Given the description of an element on the screen output the (x, y) to click on. 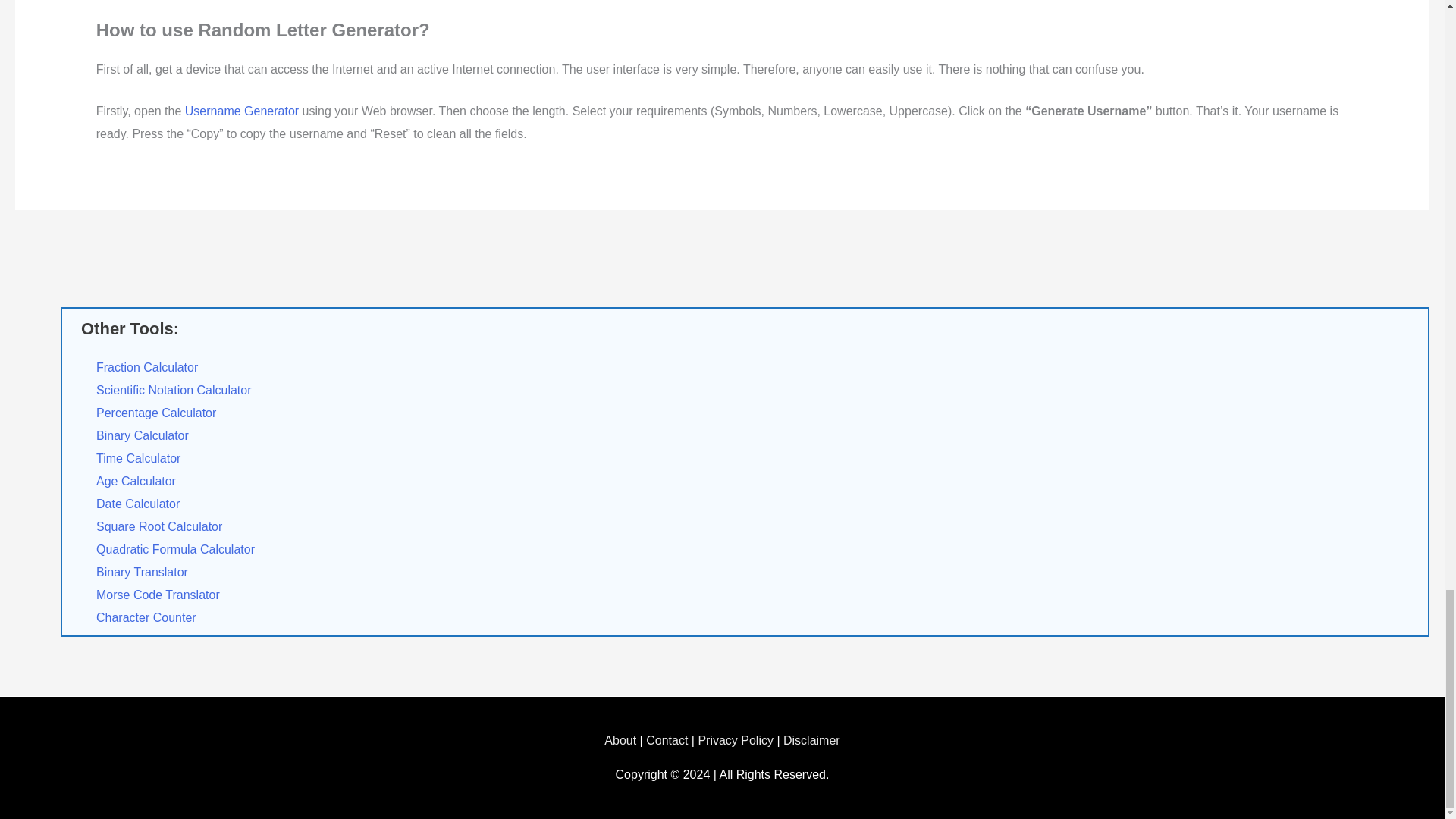
Username Generator (241, 110)
Morse Code Translator (157, 594)
Disclaimer (811, 739)
Quadratic Formula Calculator (175, 549)
Fraction Calculator (147, 367)
Binary Translator (141, 571)
Scientific Notation Calculator (173, 390)
Square Root Calculator (159, 526)
Percentage Calculator (155, 412)
Date Calculator (137, 503)
Time Calculator (138, 458)
Character Counter (146, 617)
Age Calculator (136, 481)
Binary Calculator (142, 435)
About (620, 739)
